Given the description of an element on the screen output the (x, y) to click on. 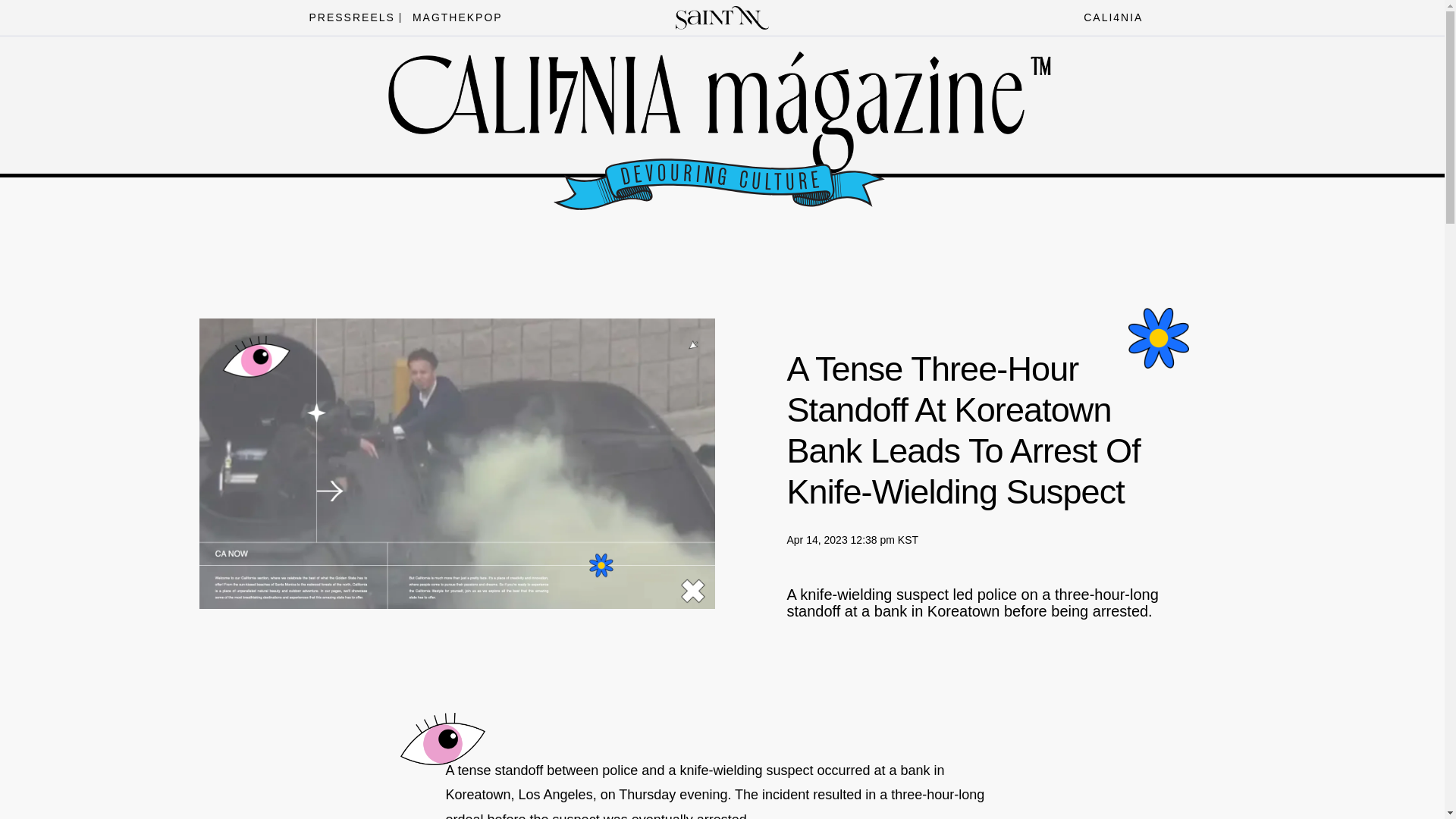
CALI4NIA (1108, 17)
MAGTHEKPOP (453, 17)
PRESSREELS (347, 17)
